Given the description of an element on the screen output the (x, y) to click on. 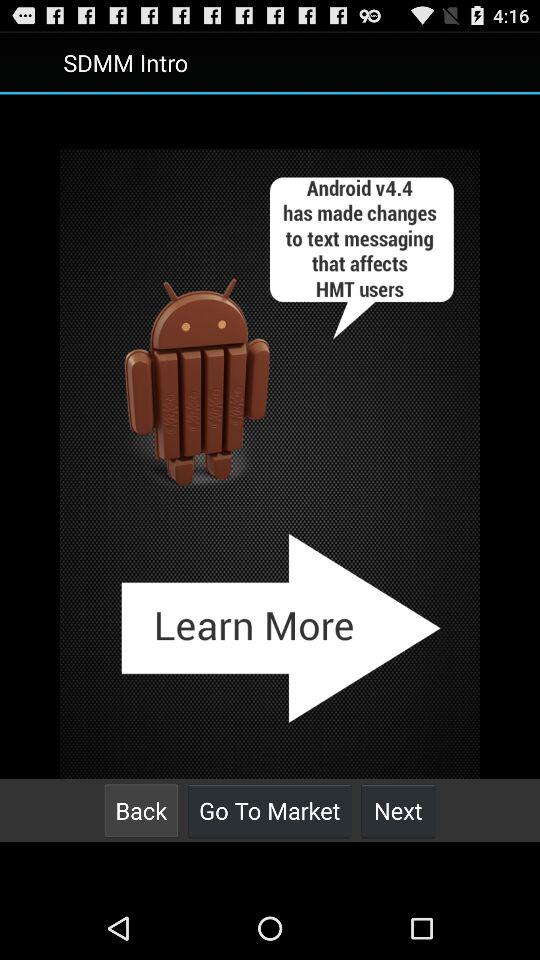
swipe until back (141, 810)
